Given the description of an element on the screen output the (x, y) to click on. 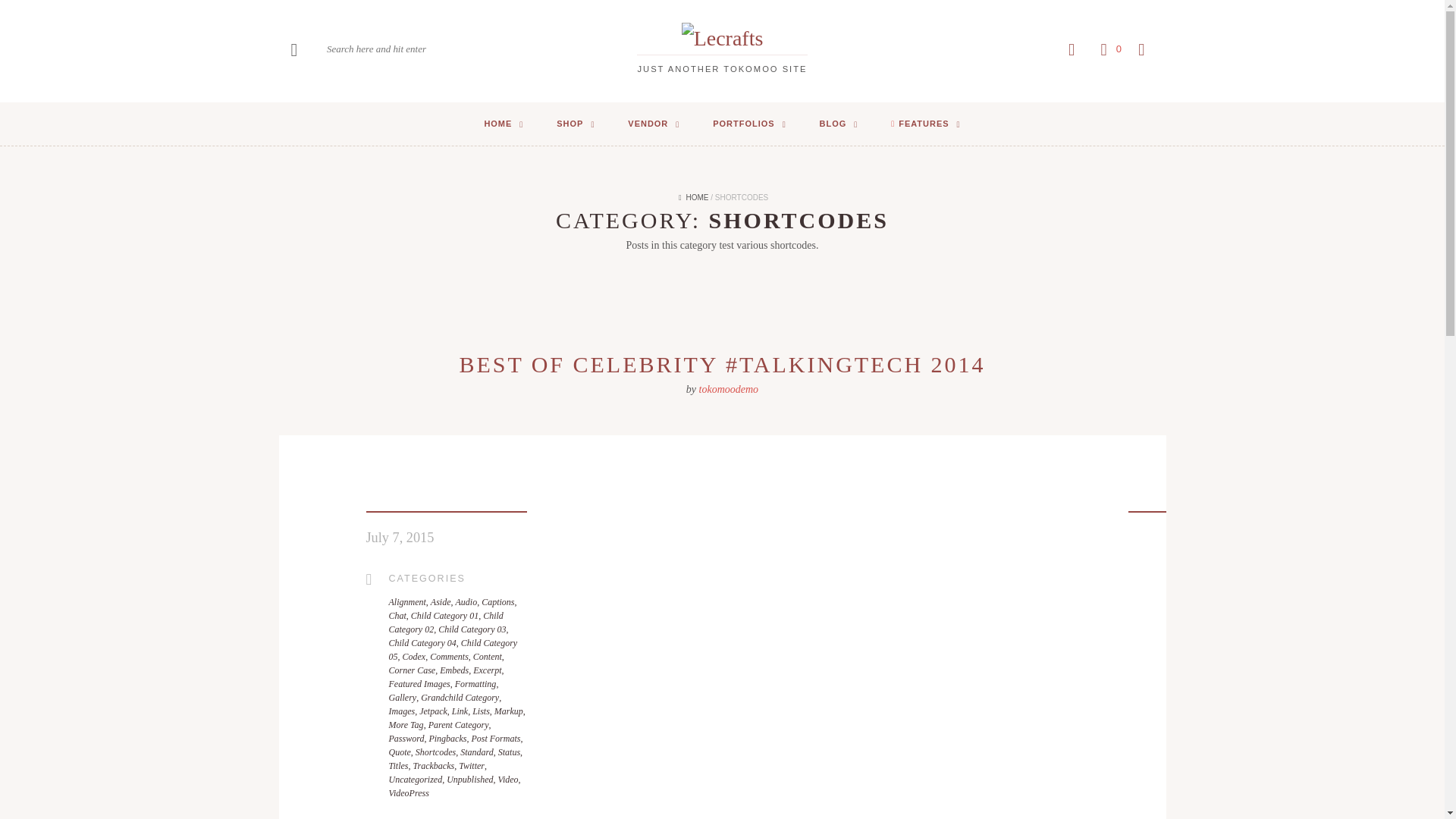
Lecrafts (721, 37)
tokomoodemo (728, 389)
PORTFOLIOS (748, 123)
0 (1107, 49)
VENDOR (653, 123)
Search for: (387, 49)
HOME (503, 123)
SHOP (575, 123)
BLOG (839, 123)
Tuesday, July 7th, 2015, 5:00 am (399, 537)
